Given the description of an element on the screen output the (x, y) to click on. 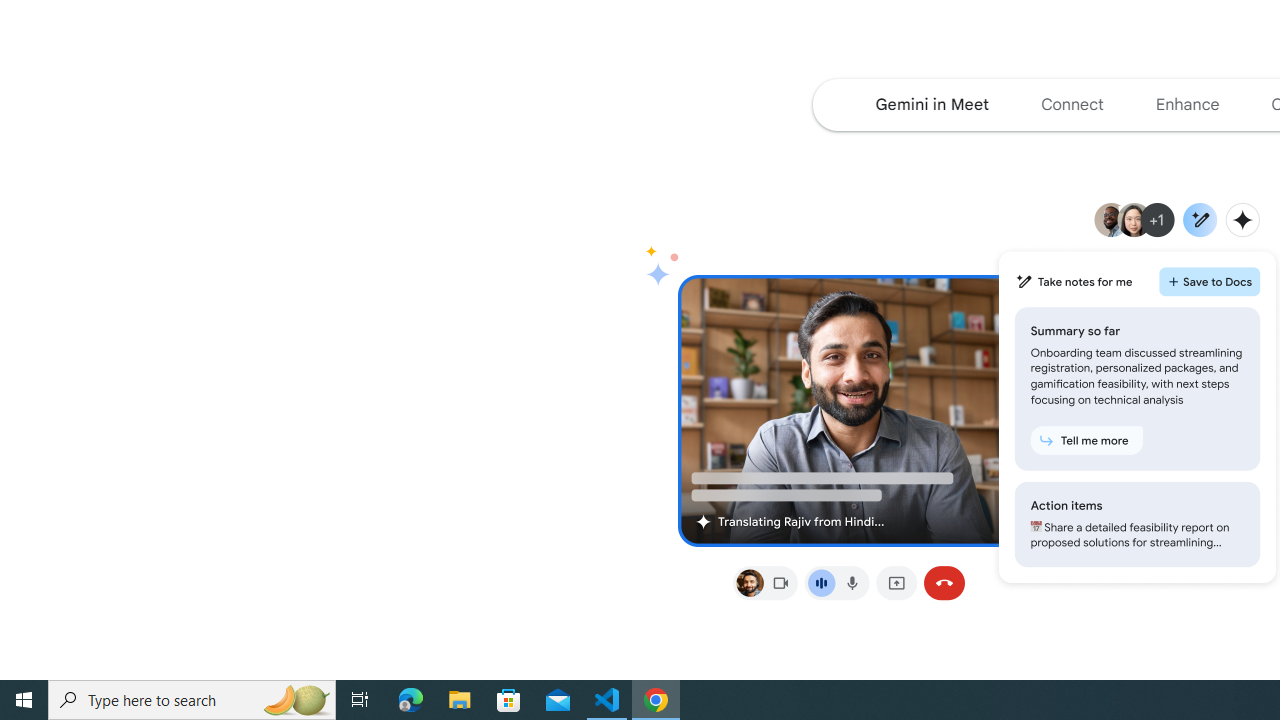
Jump to the connect section of the page  (1072, 104)
Navigate to the Gemini in Meet section of the page (932, 104)
Jump to the enhance section of the page (1186, 104)
